Given the description of an element on the screen output the (x, y) to click on. 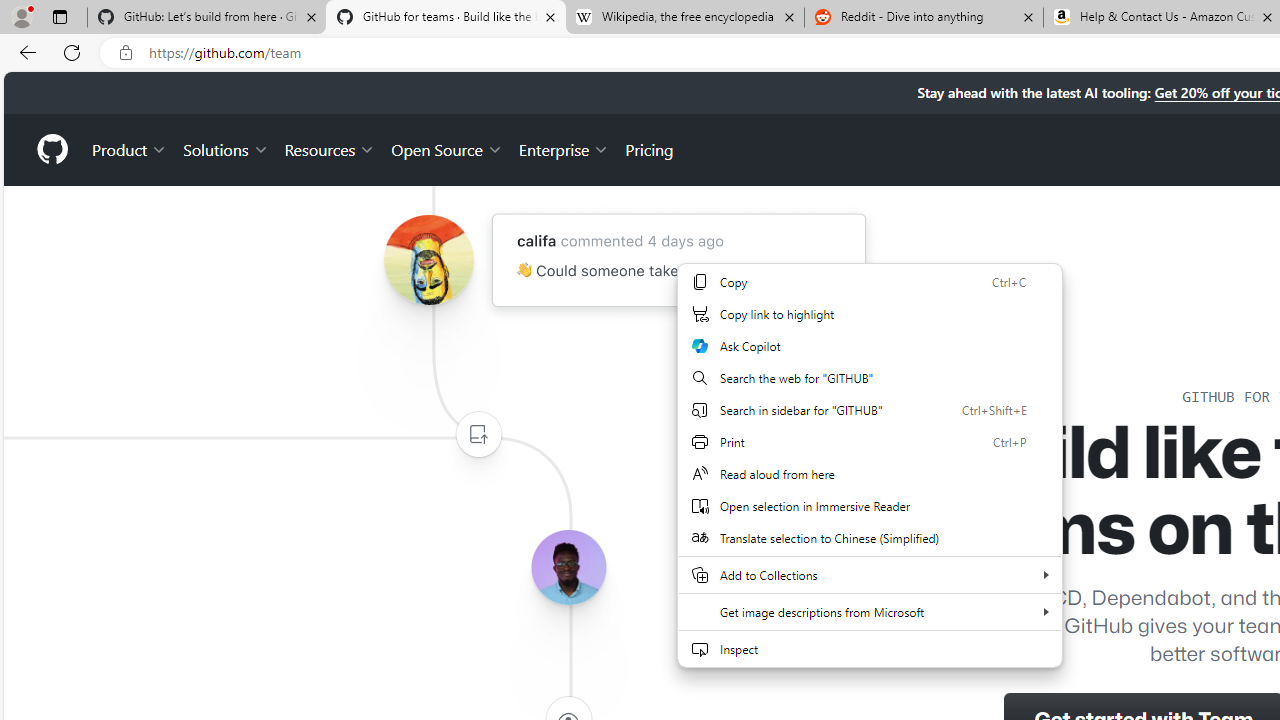
Web context (869, 476)
Wikipedia, the free encyclopedia (684, 17)
Avatar of the user califa (428, 260)
Web context (870, 465)
Get image descriptions from Microsoft (870, 611)
Pricing (649, 148)
Product (130, 148)
